Given the description of an element on the screen output the (x, y) to click on. 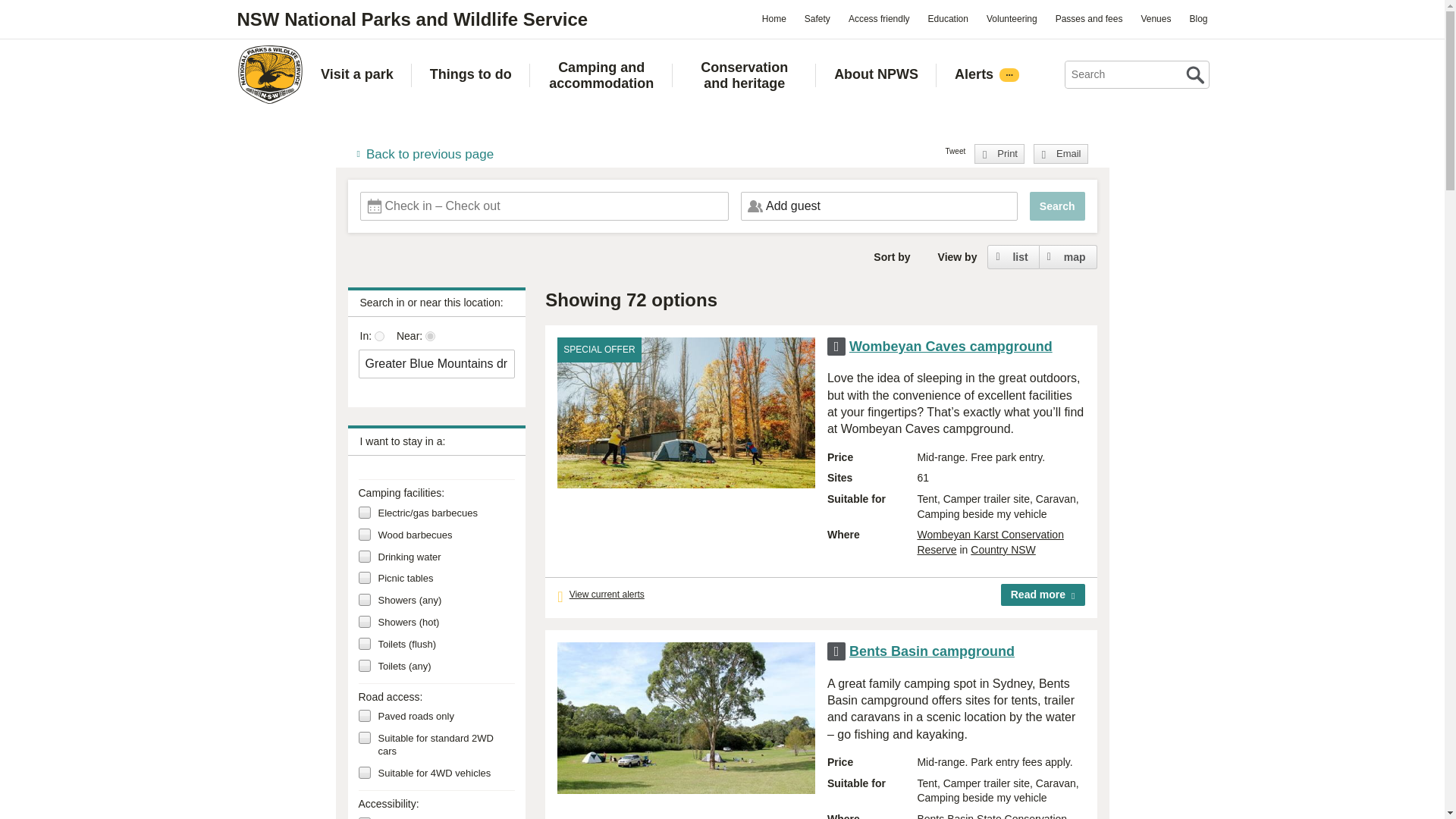
Safety (816, 18)
Home (268, 74)
Blog (1197, 18)
Access friendly (879, 18)
Around (430, 336)
Venues (1155, 18)
Greater Blue Mountains drive (437, 363)
Camping and accommodation (601, 75)
Home (773, 18)
Passes and fees (1089, 18)
